Given the description of an element on the screen output the (x, y) to click on. 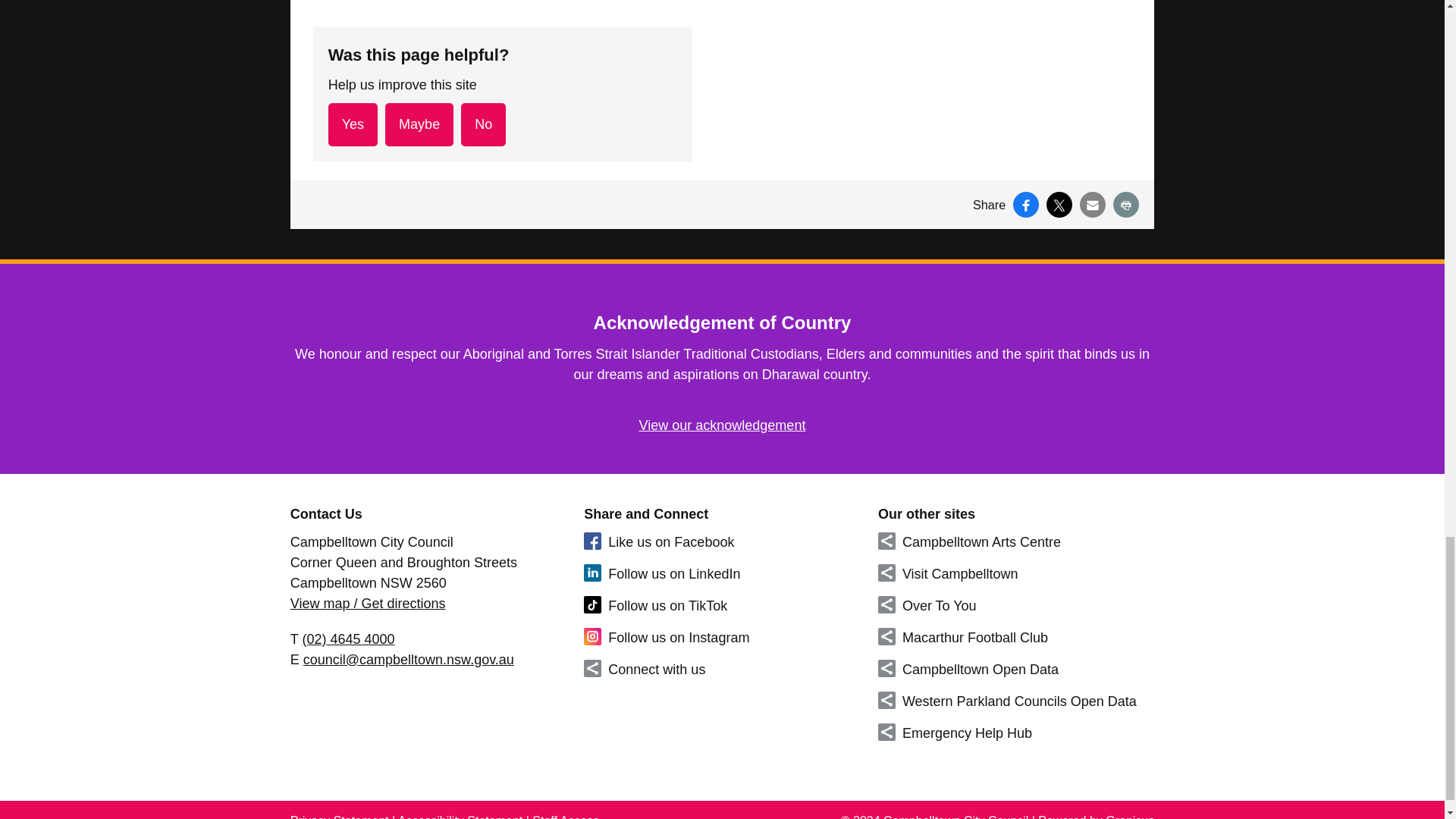
Yes (353, 124)
No (483, 124)
No, this page was not helpful (483, 124)
Maybe (418, 124)
Yes, this page was helpful (353, 124)
